Given the description of an element on the screen output the (x, y) to click on. 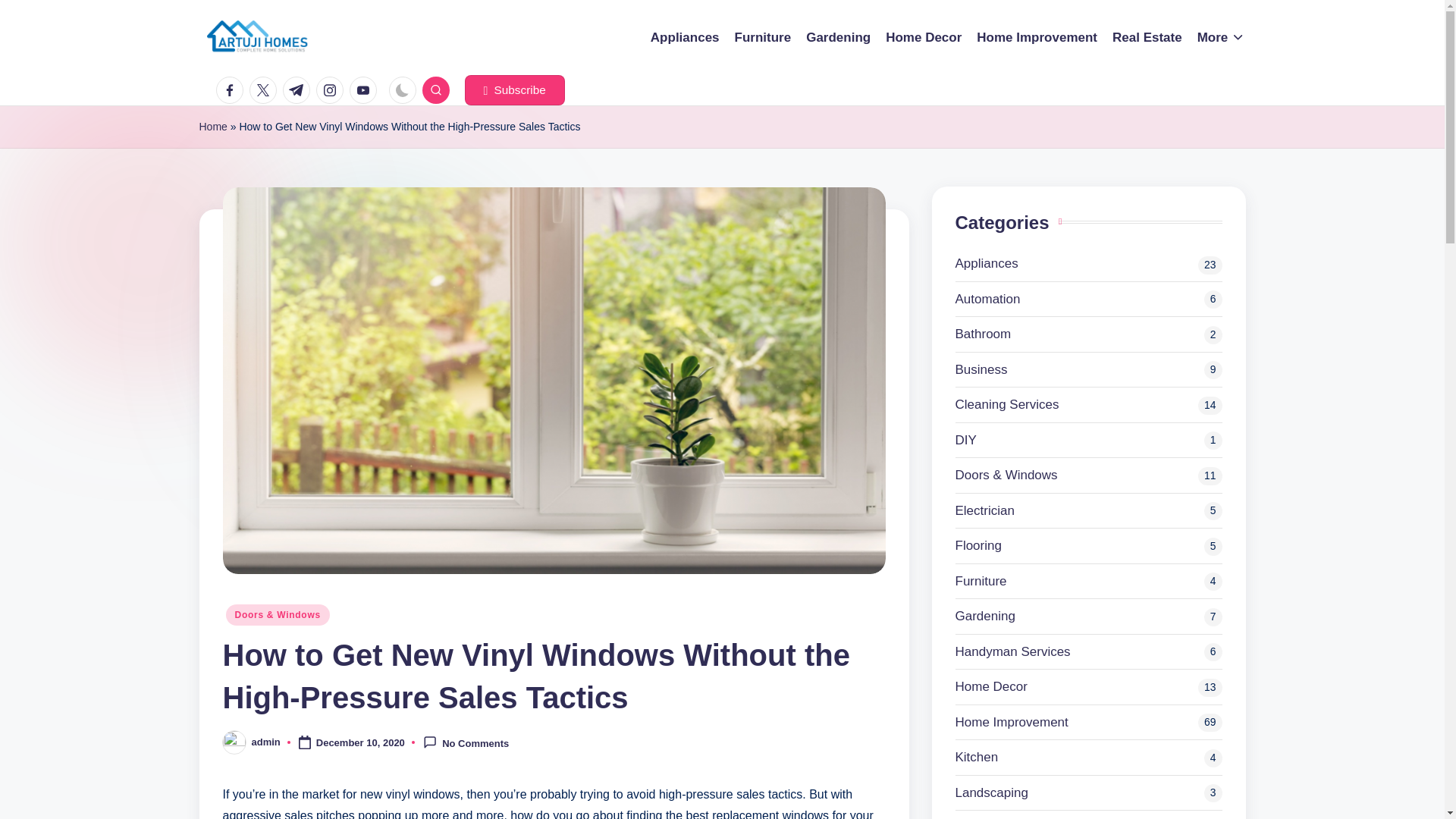
Home (212, 126)
Furniture (763, 37)
Home Improvement (1036, 37)
facebook.com (231, 90)
Home Decor (922, 37)
t.me (298, 90)
Appliances (684, 37)
twitter.com (265, 90)
Gardening (838, 37)
Appliances (1089, 263)
